Given the description of an element on the screen output the (x, y) to click on. 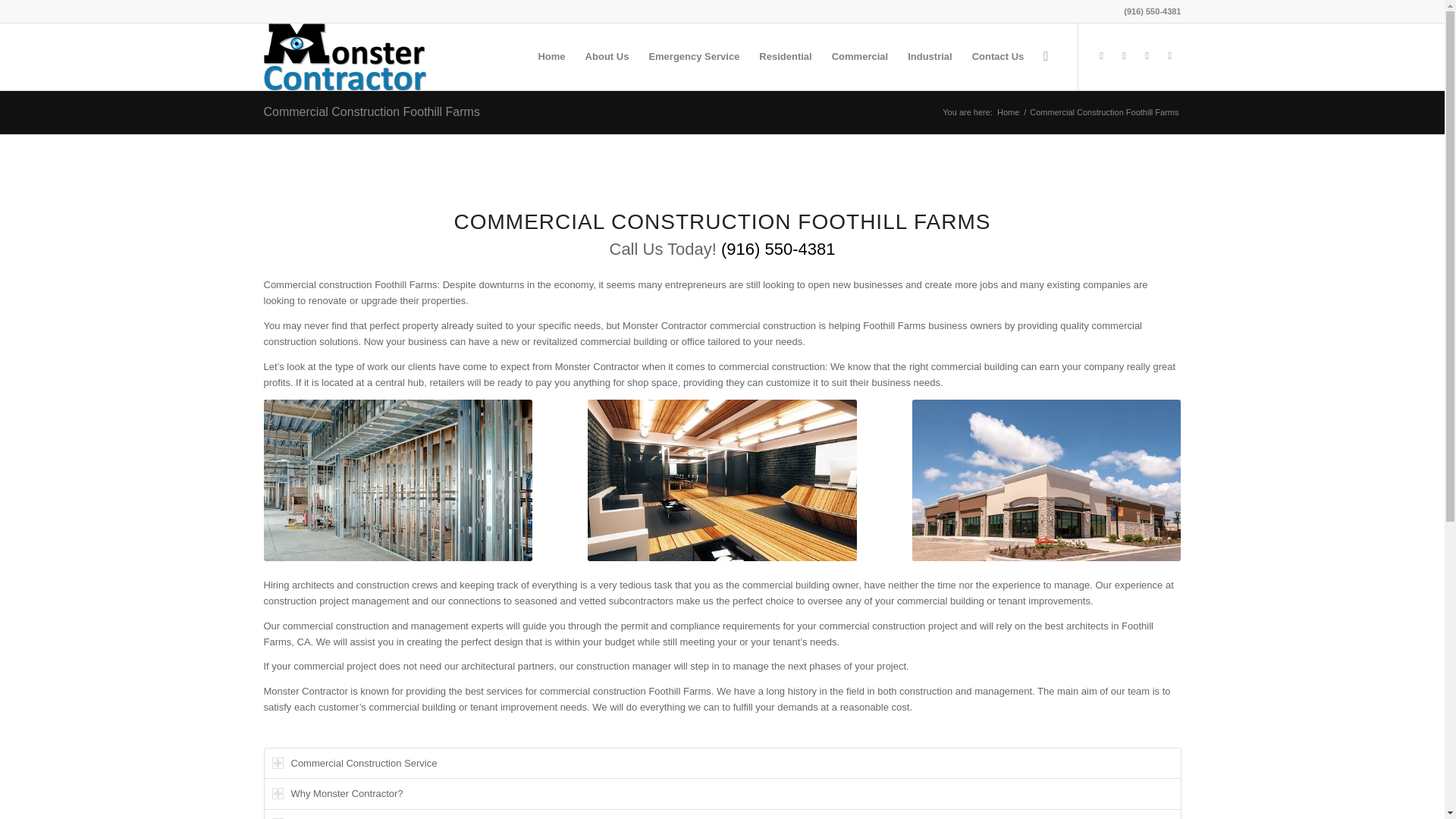
About Us (607, 56)
Monster Contractor About Us (607, 56)
Industrial (930, 56)
Residential Construction Sacramento (785, 56)
Residential (785, 56)
Emergency Service (694, 56)
Commercial Construction Foothill Farms (371, 111)
Commercial (860, 56)
Home (1008, 112)
Contact Us (997, 56)
Emergency Service Sacramento (694, 56)
